Given the description of an element on the screen output the (x, y) to click on. 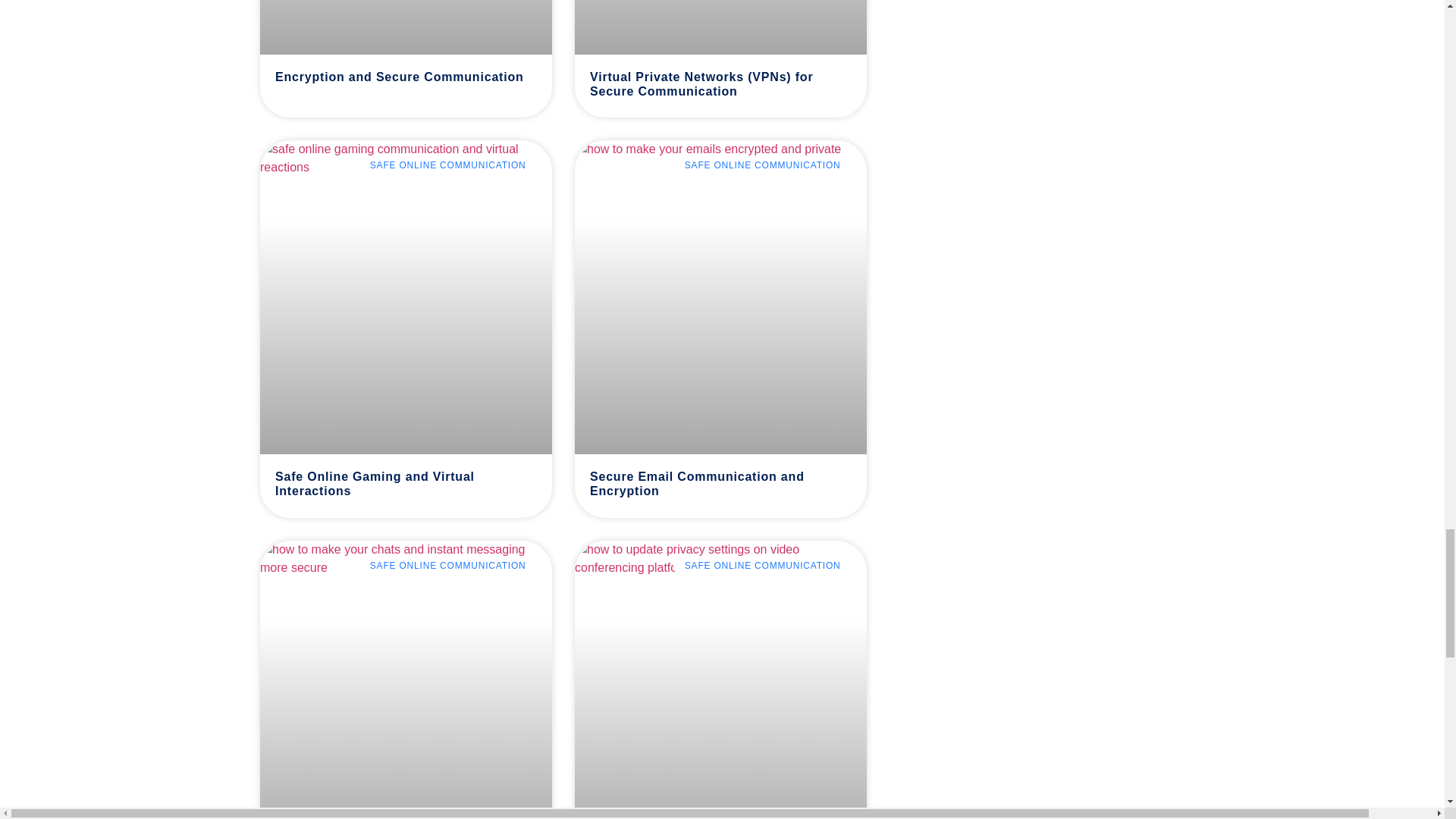
Secure Email Communication and Encryption (696, 483)
Safe Online Gaming and Virtual Interactions (374, 483)
Encryption and Secure Communication (398, 76)
